Given the description of an element on the screen output the (x, y) to click on. 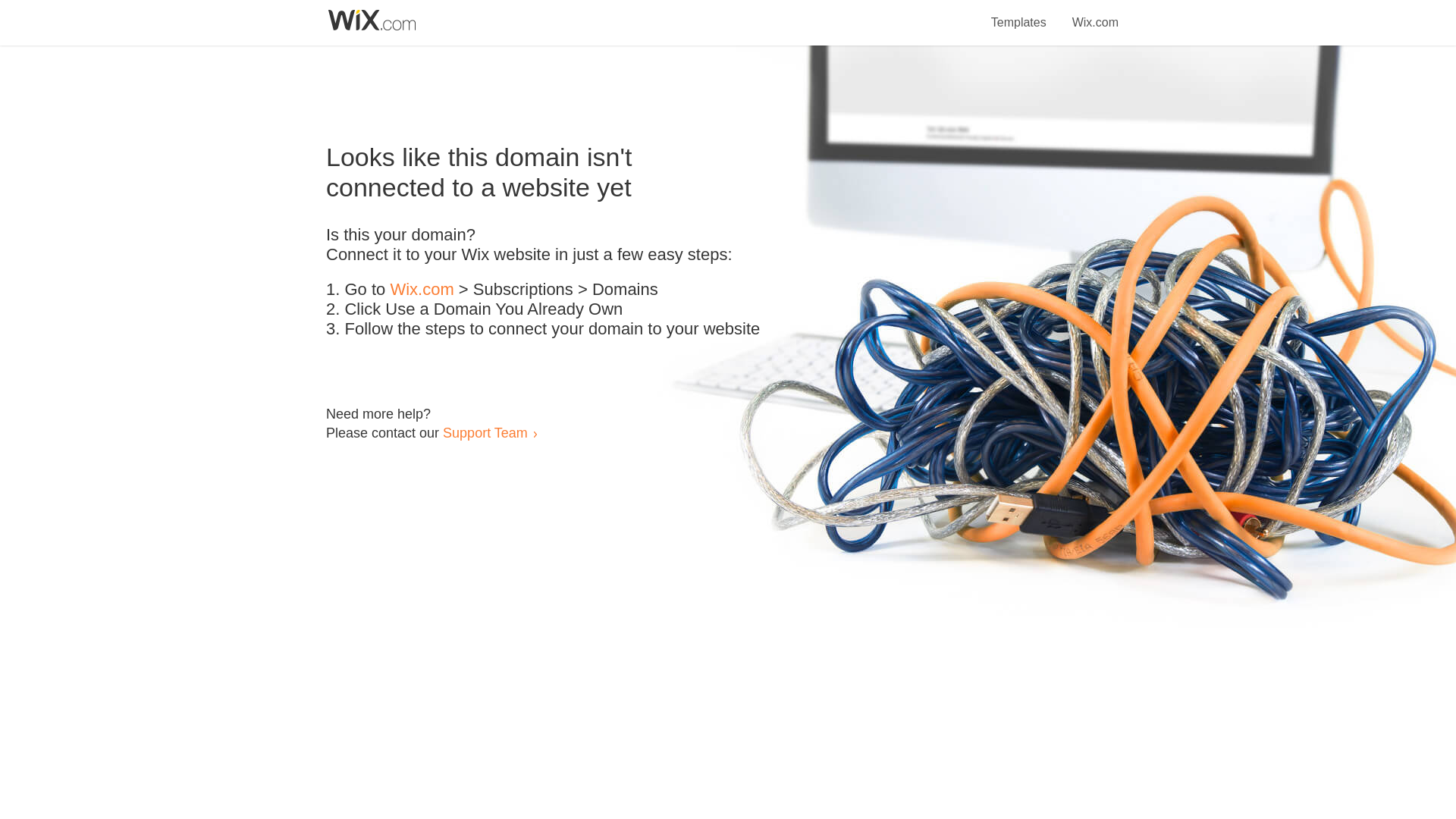
Wix.com (1095, 14)
Templates (1018, 14)
Support Team (484, 432)
Wix.com (421, 289)
